Given the description of an element on the screen output the (x, y) to click on. 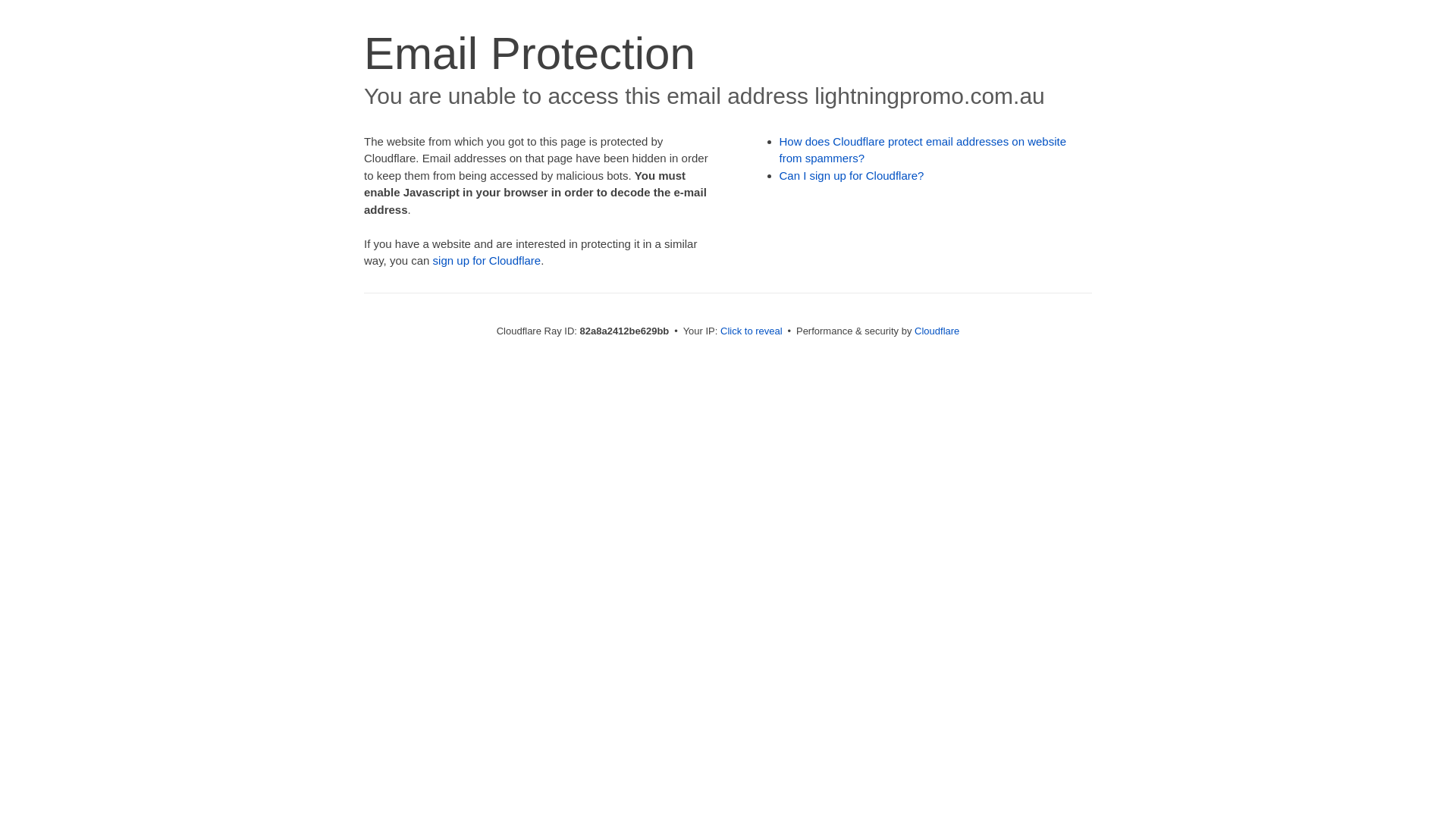
Cloudflare Element type: text (936, 330)
sign up for Cloudflare Element type: text (487, 260)
Click to reveal Element type: text (751, 330)
Can I sign up for Cloudflare? Element type: text (851, 175)
